Given the description of an element on the screen output the (x, y) to click on. 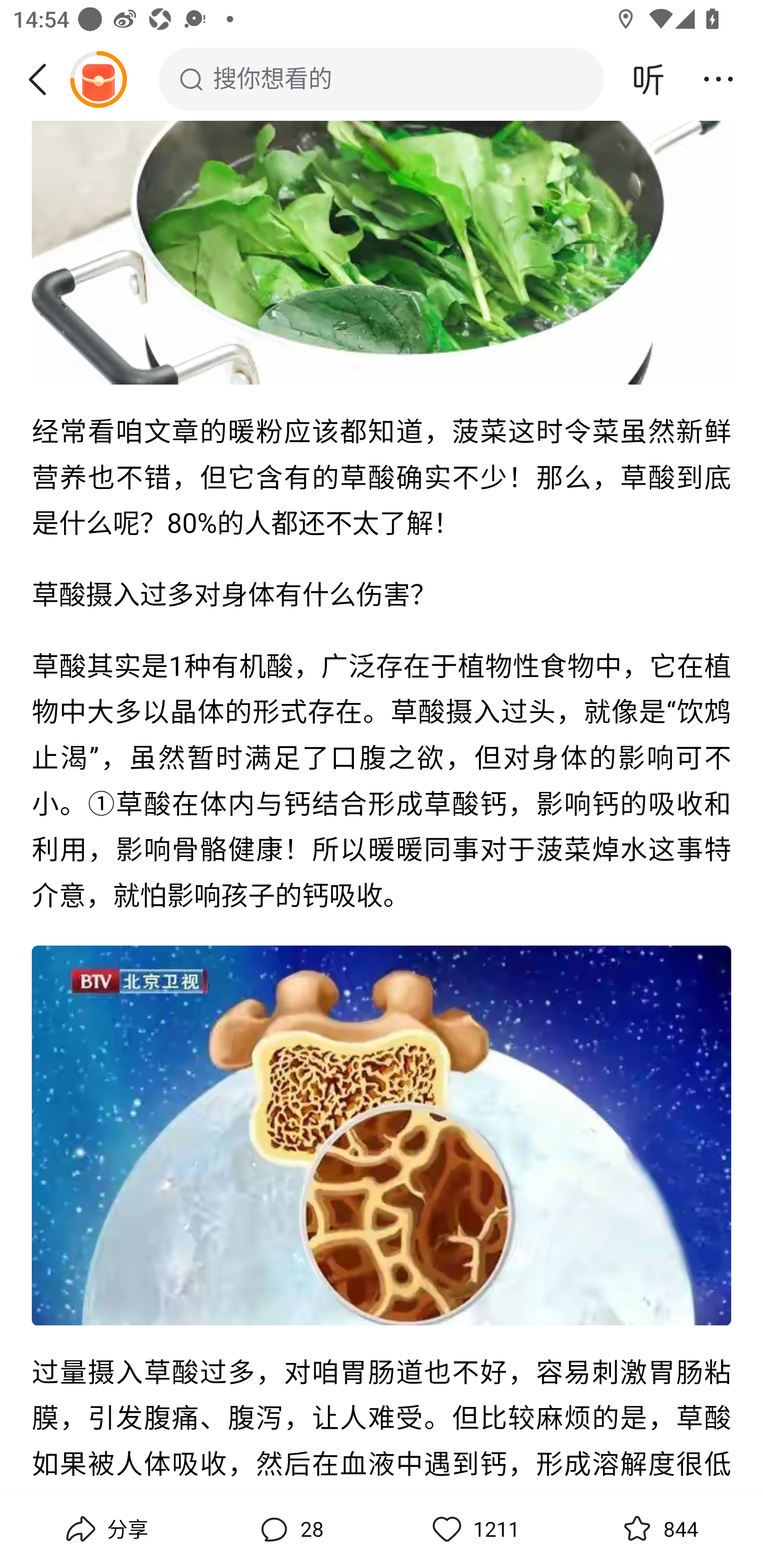
返回 (44, 78)
听头条 (648, 78)
更多操作 (718, 78)
搜你想看的 搜索框，搜你想看的 (381, 79)
阅读赚金币 (98, 79)
图片，点击识别内容 (381, 252)
图片，点击识别内容 (381, 1135)
分享 (104, 1529)
评论,28 28 (288, 1529)
收藏,844 844 (658, 1529)
